Given the description of an element on the screen output the (x, y) to click on. 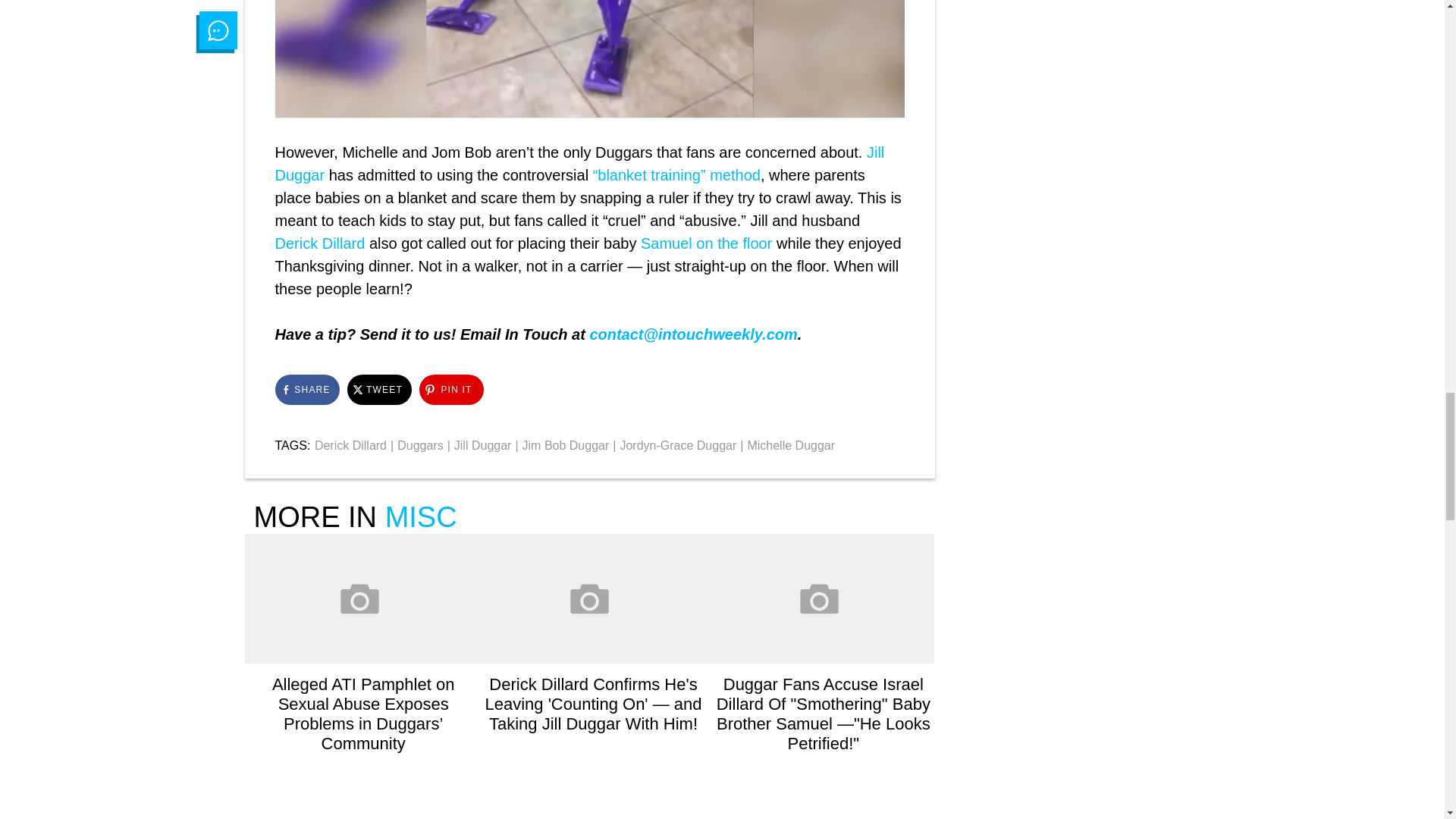
Click to share on Facebook (307, 389)
Click to share on Pinterest (451, 389)
Click to share on Twitter (379, 389)
duggar grandkids, facebook (589, 58)
